Given the description of an element on the screen output the (x, y) to click on. 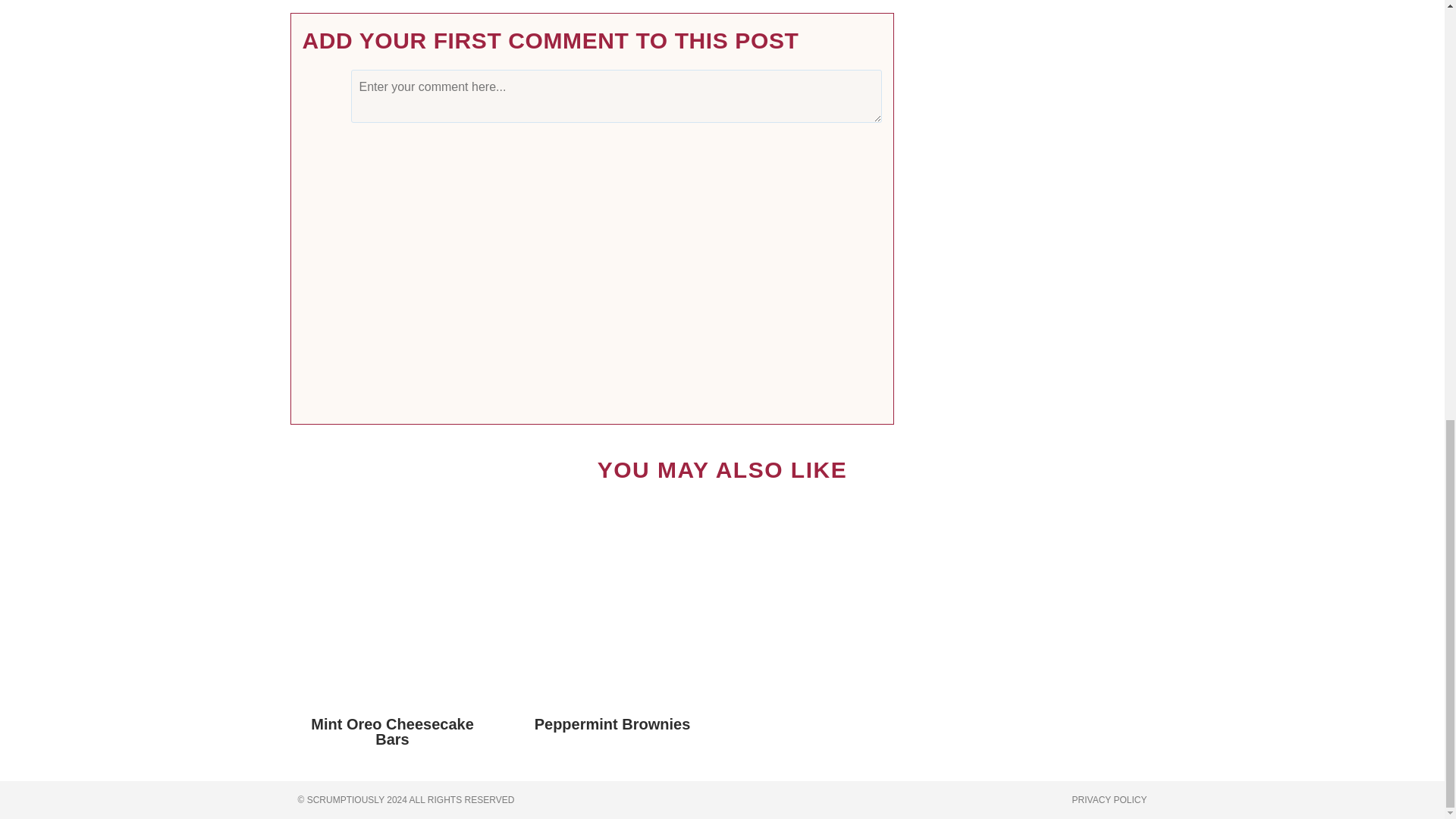
Enter your comment here... (616, 95)
